Given the description of an element on the screen output the (x, y) to click on. 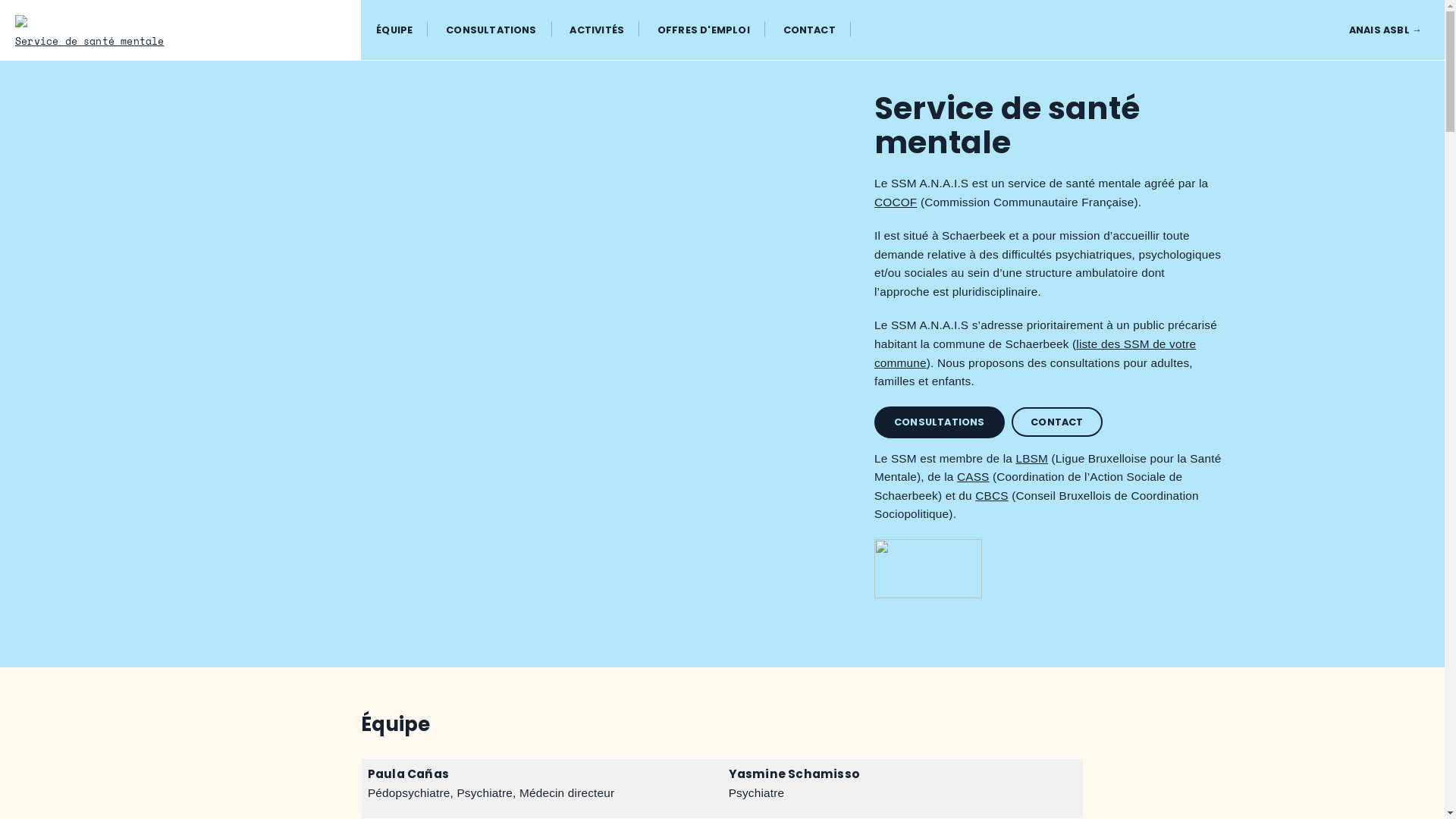
COCOF Element type: text (895, 201)
CASS Element type: text (973, 476)
CONSULTATIONS Element type: text (490, 30)
CONTACT Element type: text (809, 30)
liste des SSM de votre commune Element type: text (1034, 353)
CONSULTATIONS Element type: text (939, 422)
CBCS Element type: text (991, 495)
CONTACT Element type: text (1056, 421)
OFFRES D'EMPLOI Element type: text (703, 30)
LBSM Element type: text (1031, 457)
